Given the description of an element on the screen output the (x, y) to click on. 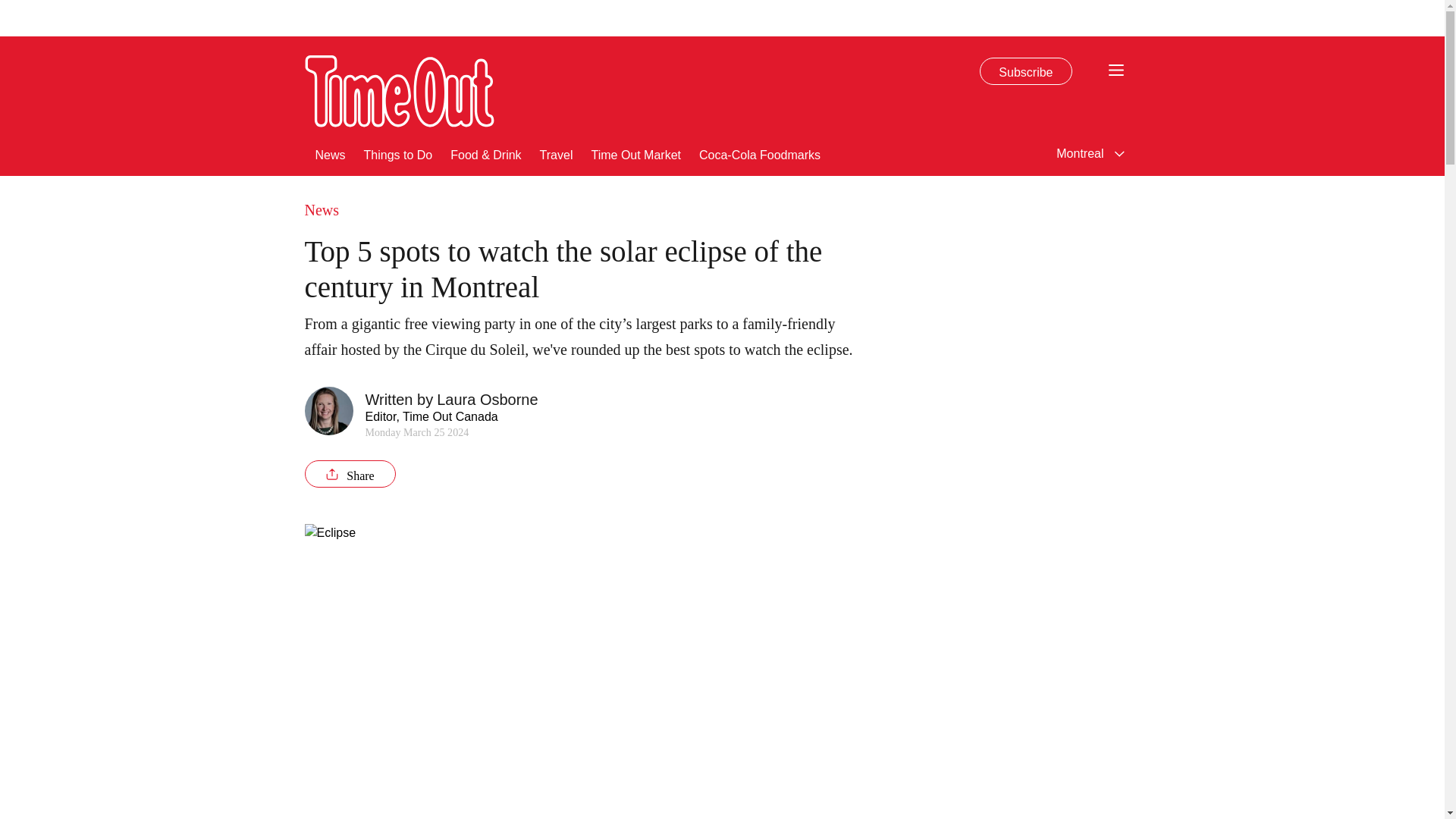
News (330, 153)
Time Out Market (635, 153)
Go to the content (10, 7)
Things to Do (397, 153)
Time Out Market (635, 153)
Travel (556, 153)
Subscribe (1025, 71)
News (330, 153)
Coca-Cola Foodmarks (759, 153)
